Given the description of an element on the screen output the (x, y) to click on. 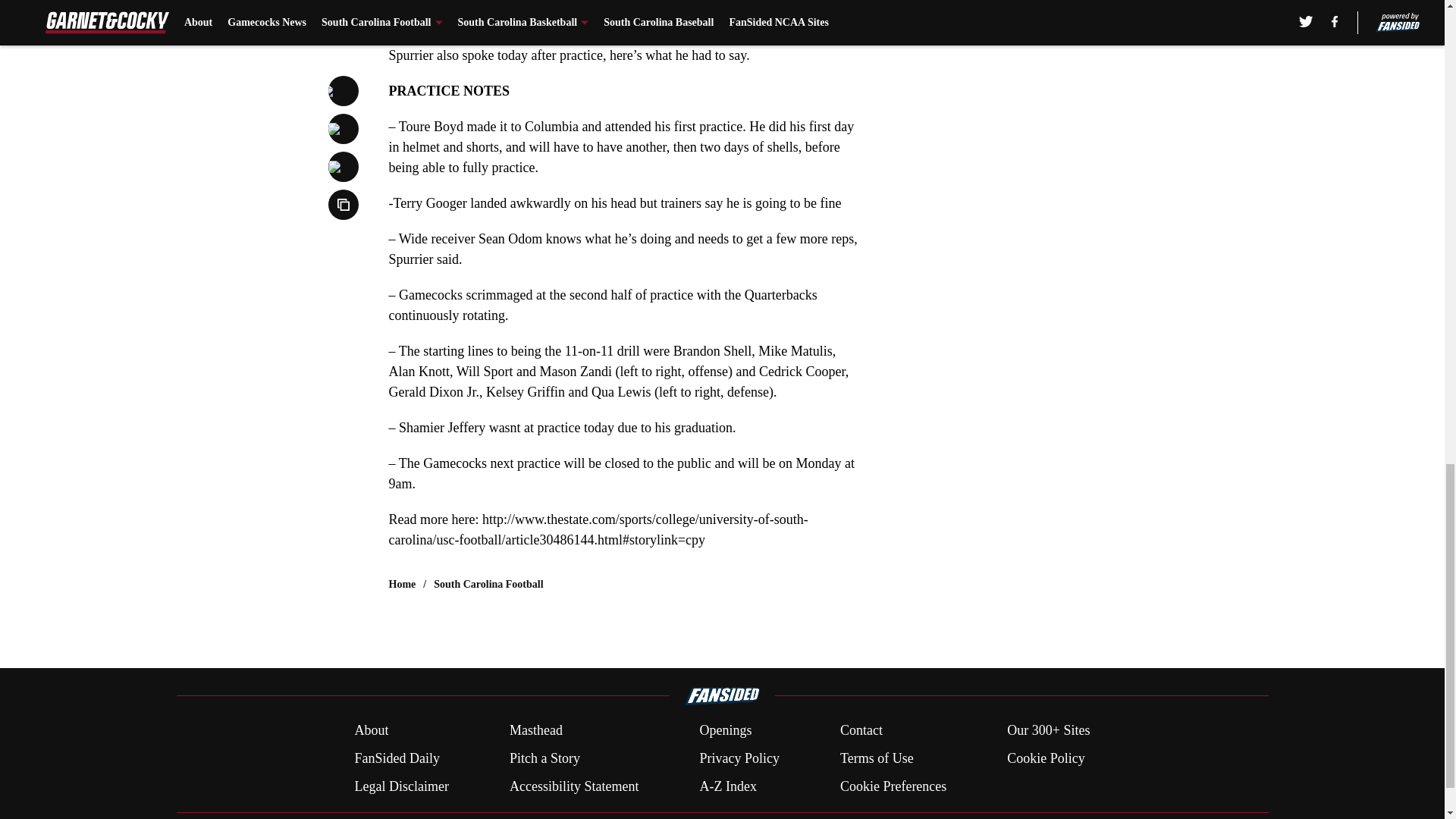
Accessibility Statement (574, 786)
Openings (724, 730)
Masthead (535, 730)
GoGamecocks (500, 19)
Cookie Preferences (893, 786)
South Carolina Football (488, 584)
Contact (861, 730)
Terms of Use (877, 758)
Privacy Policy (738, 758)
About (370, 730)
A-Z Index (726, 786)
Home (401, 584)
Legal Disclaimer (400, 786)
FanSided Daily (396, 758)
Cookie Policy (1045, 758)
